Given the description of an element on the screen output the (x, y) to click on. 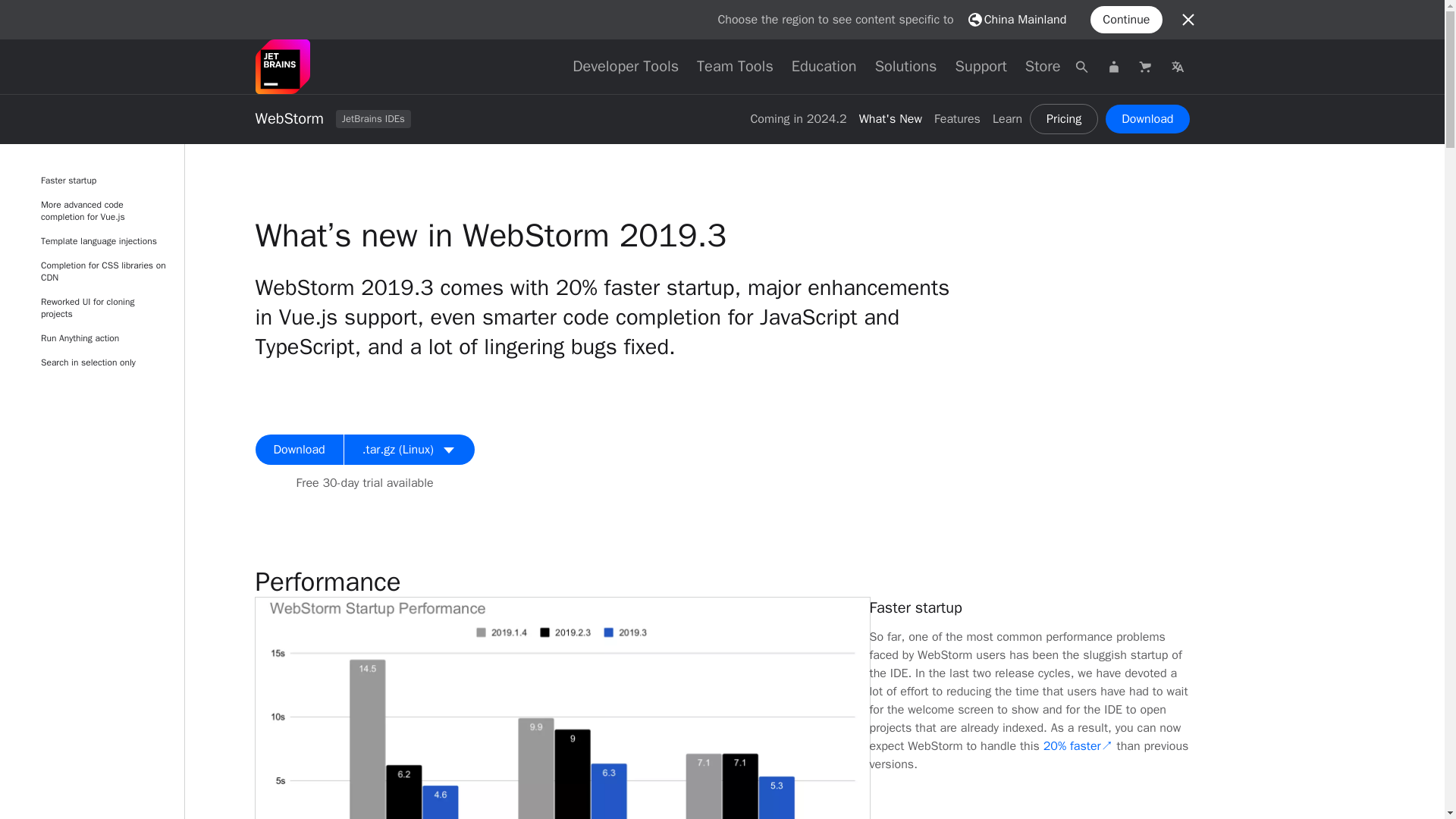
Developer Tools (625, 66)
Continue (1125, 19)
